Given the description of an element on the screen output the (x, y) to click on. 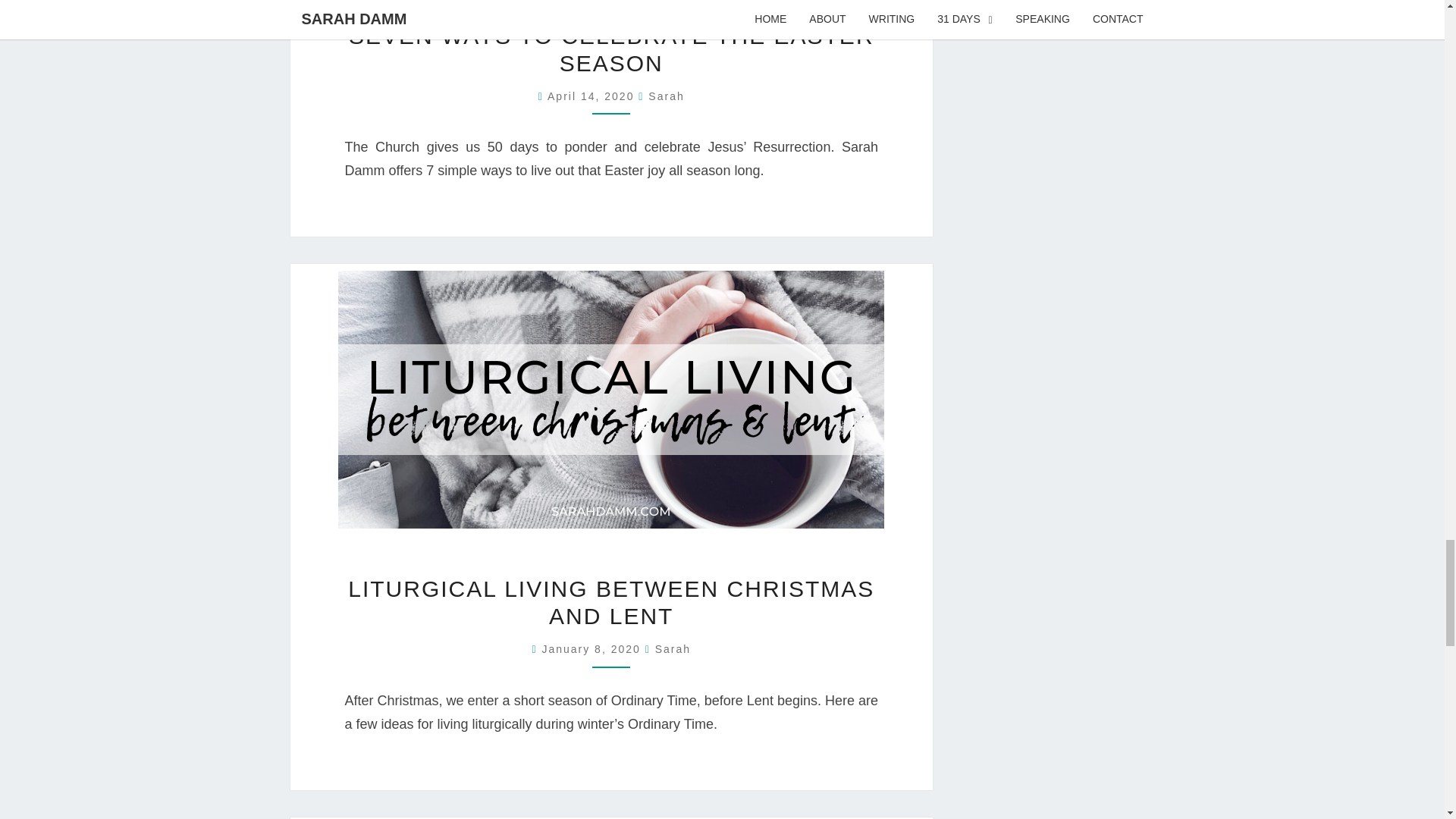
Sarah (665, 95)
April 14, 2020 (593, 95)
12:32 pm (593, 648)
View all posts by Sarah (665, 95)
SEVEN WAYS TO CELEBRATE THE EASTER SEASON (612, 48)
2:41 pm (593, 95)
